Given the description of an element on the screen output the (x, y) to click on. 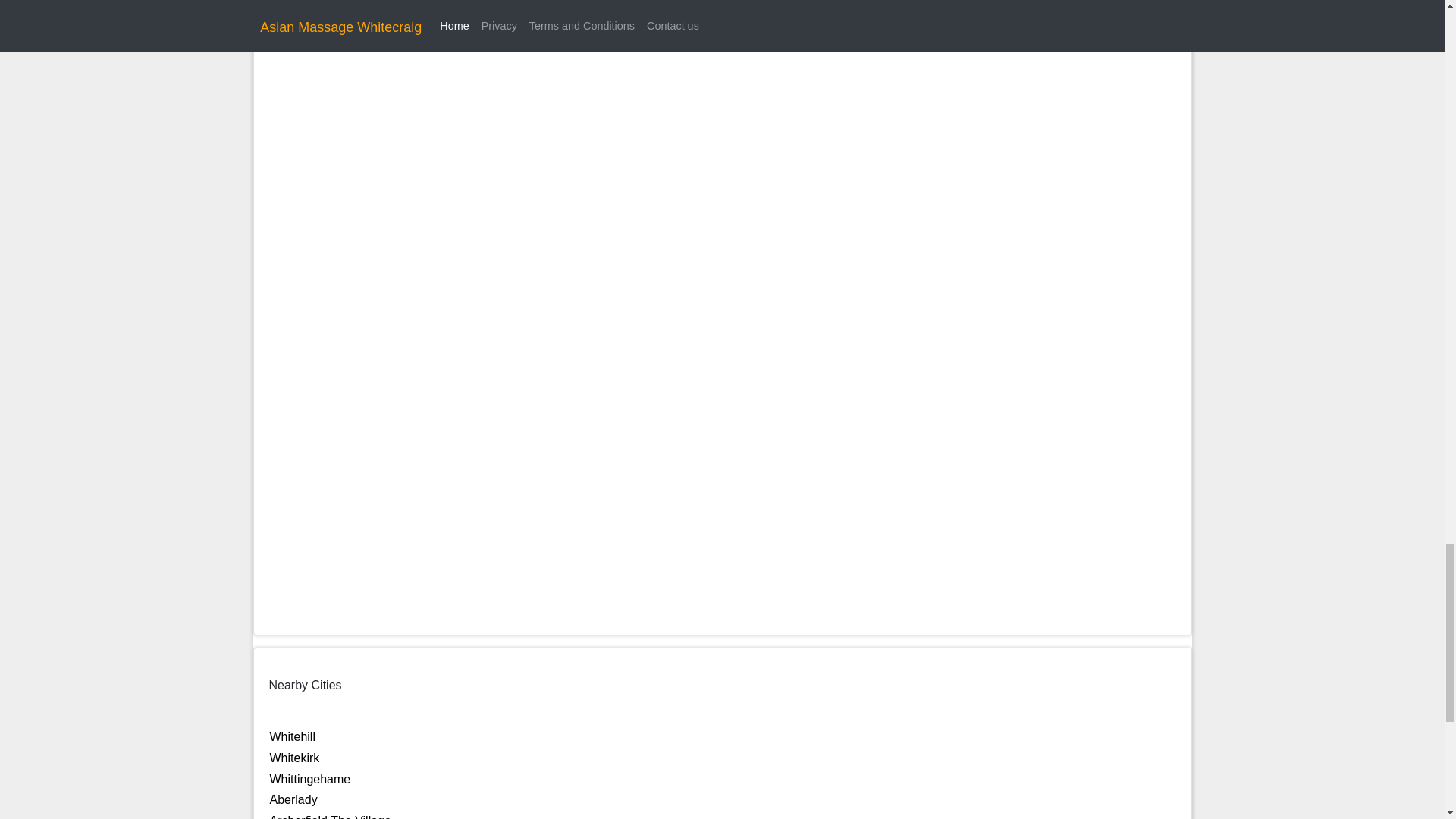
Archerfield The Village (330, 816)
Whitekirk (294, 757)
Whittingehame (309, 779)
Aberlady (293, 799)
Whitehill (292, 736)
